Given the description of an element on the screen output the (x, y) to click on. 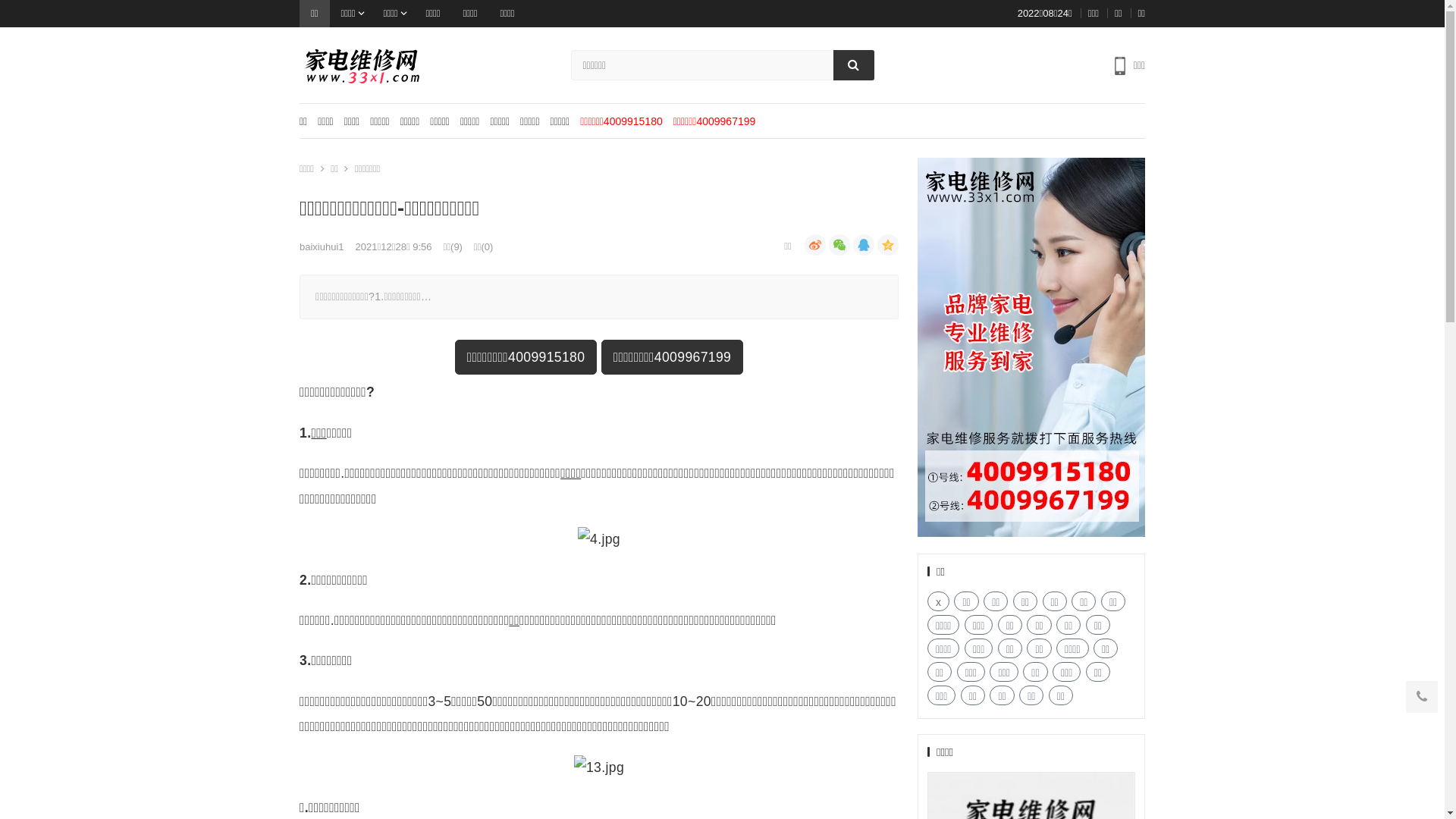
x Element type: text (938, 601)
1638336996365984.jpg Element type: hover (599, 767)
baixiuhui1 Element type: text (321, 246)
1638336987856574.jpg Element type: hover (598, 539)
